Given the description of an element on the screen output the (x, y) to click on. 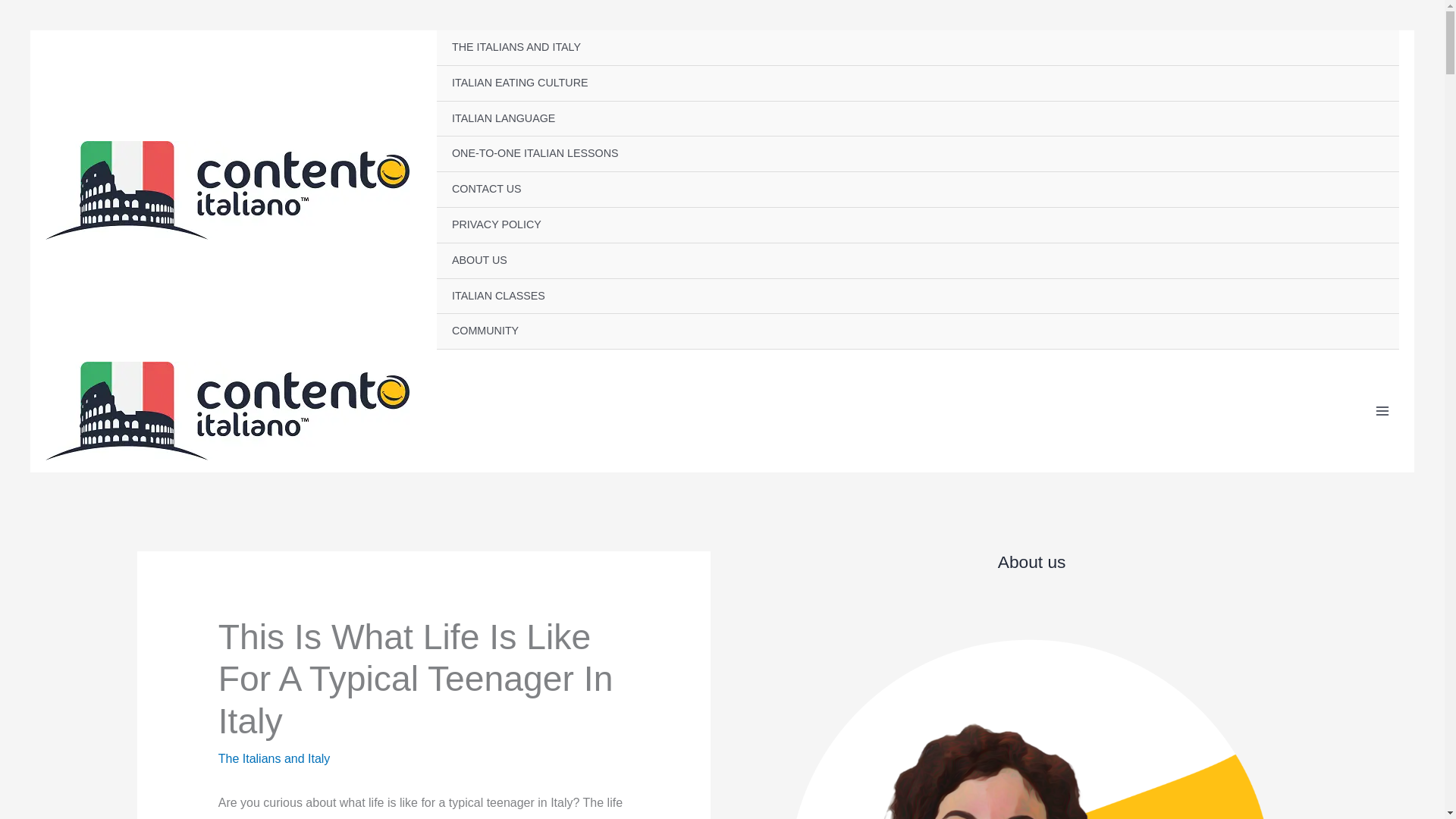
PRIVACY POLICY (917, 225)
Main Menu (1382, 410)
ITALIAN EATING CULTURE (917, 83)
ITALIAN LANGUAGE (917, 119)
CONTACT US (917, 189)
ABOUT US (917, 261)
COMMUNITY (917, 331)
The Italians and Italy (274, 758)
ONE-TO-ONE ITALIAN LESSONS (917, 153)
THE ITALIANS AND ITALY (917, 48)
ITALIAN CLASSES (917, 296)
